Given the description of an element on the screen output the (x, y) to click on. 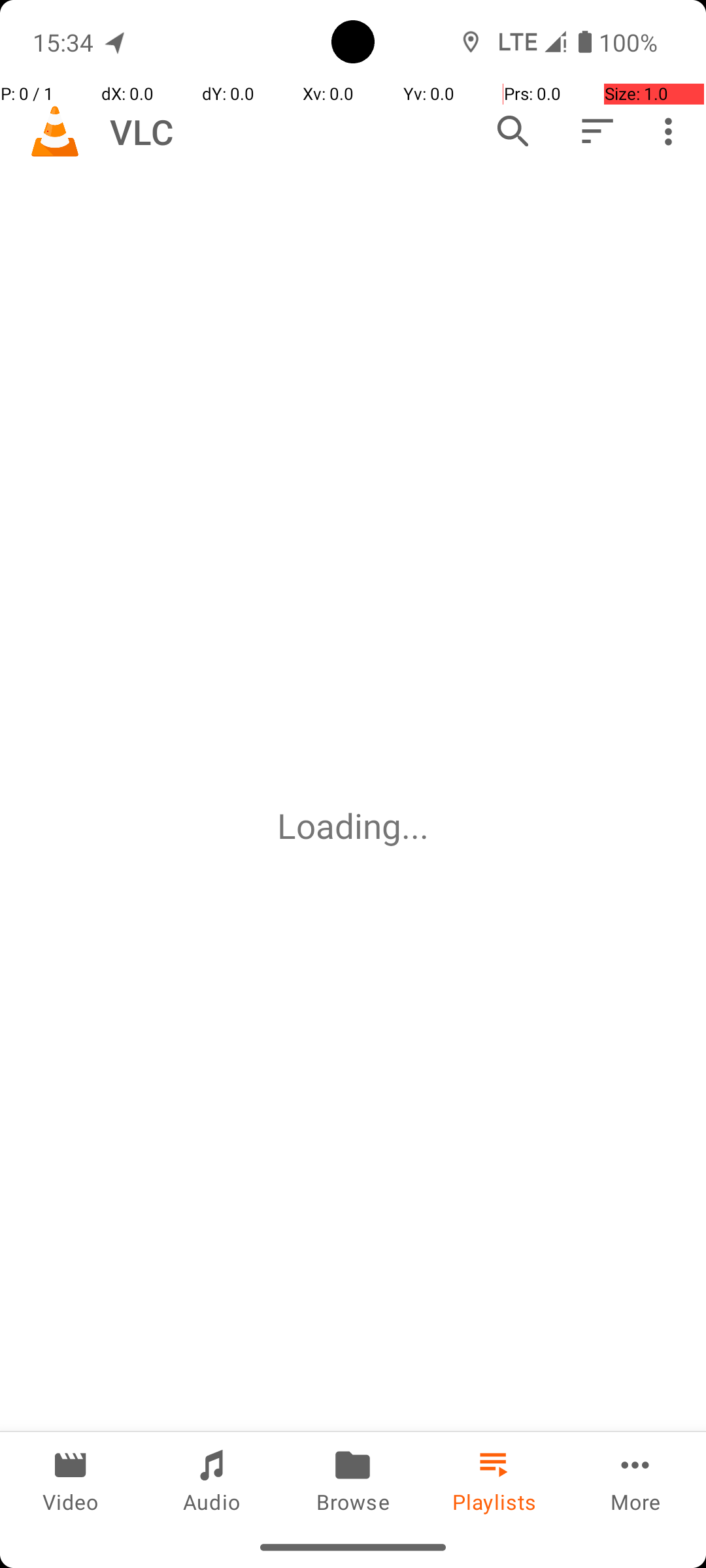
... Element type: android.widget.TextView (414, 825)
